Given the description of an element on the screen output the (x, y) to click on. 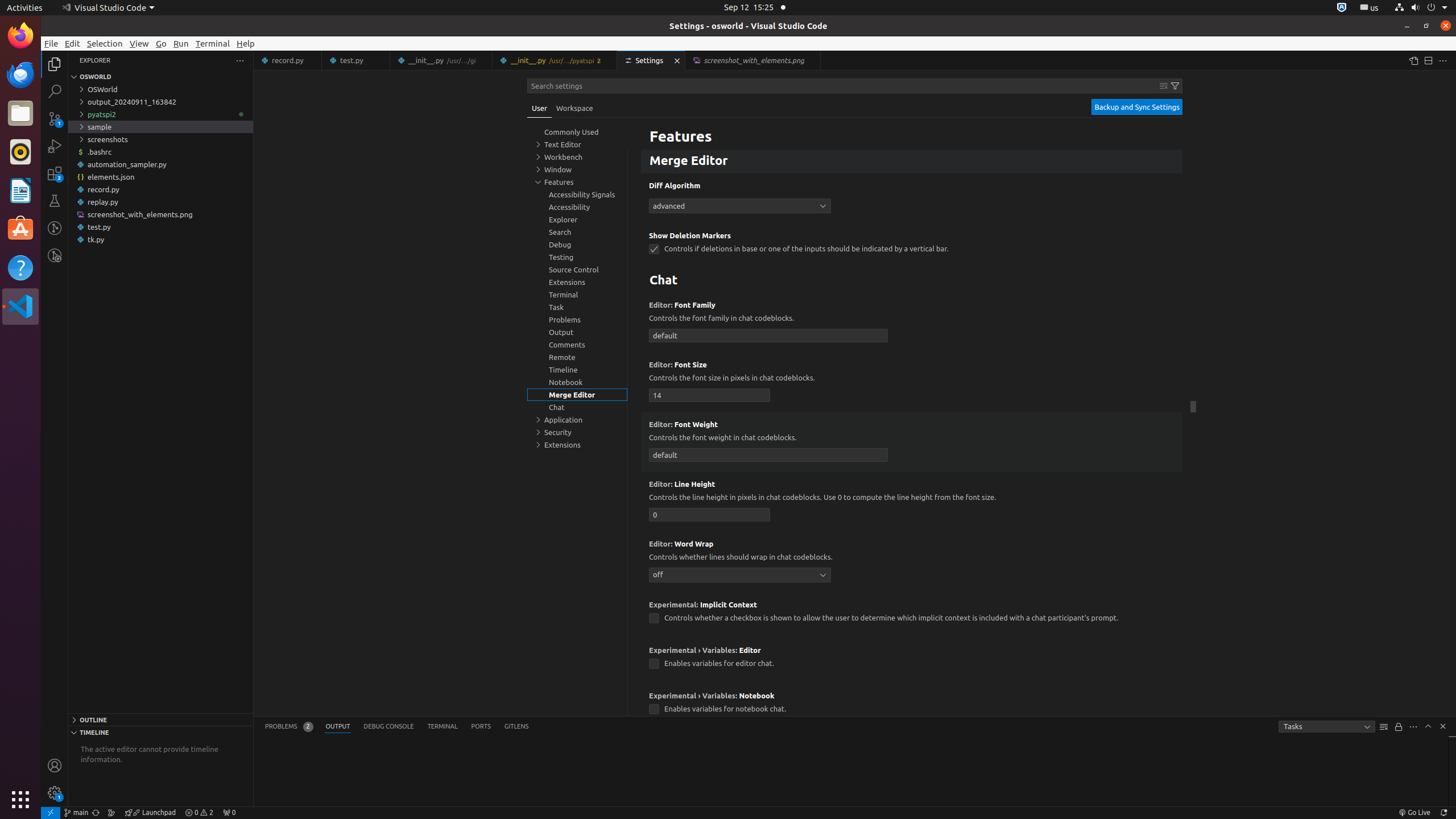
Experimental › Variables Editor. Enables variables for editor chat.  Element type: tree-item (911, 660)
Source Control, group Element type: tree-item (577, 269)
Interactive Window Show Execution Hint. Display a hint in the Interactive Window (REPL) input box to indicate how to execute code.  Element type: tree-item (911, 126)
Split Editor Right (Ctrl+\) [Alt] Split Editor Down Element type: push-button (1427, 60)
Accounts Element type: push-button (54, 765)
